Given the description of an element on the screen output the (x, y) to click on. 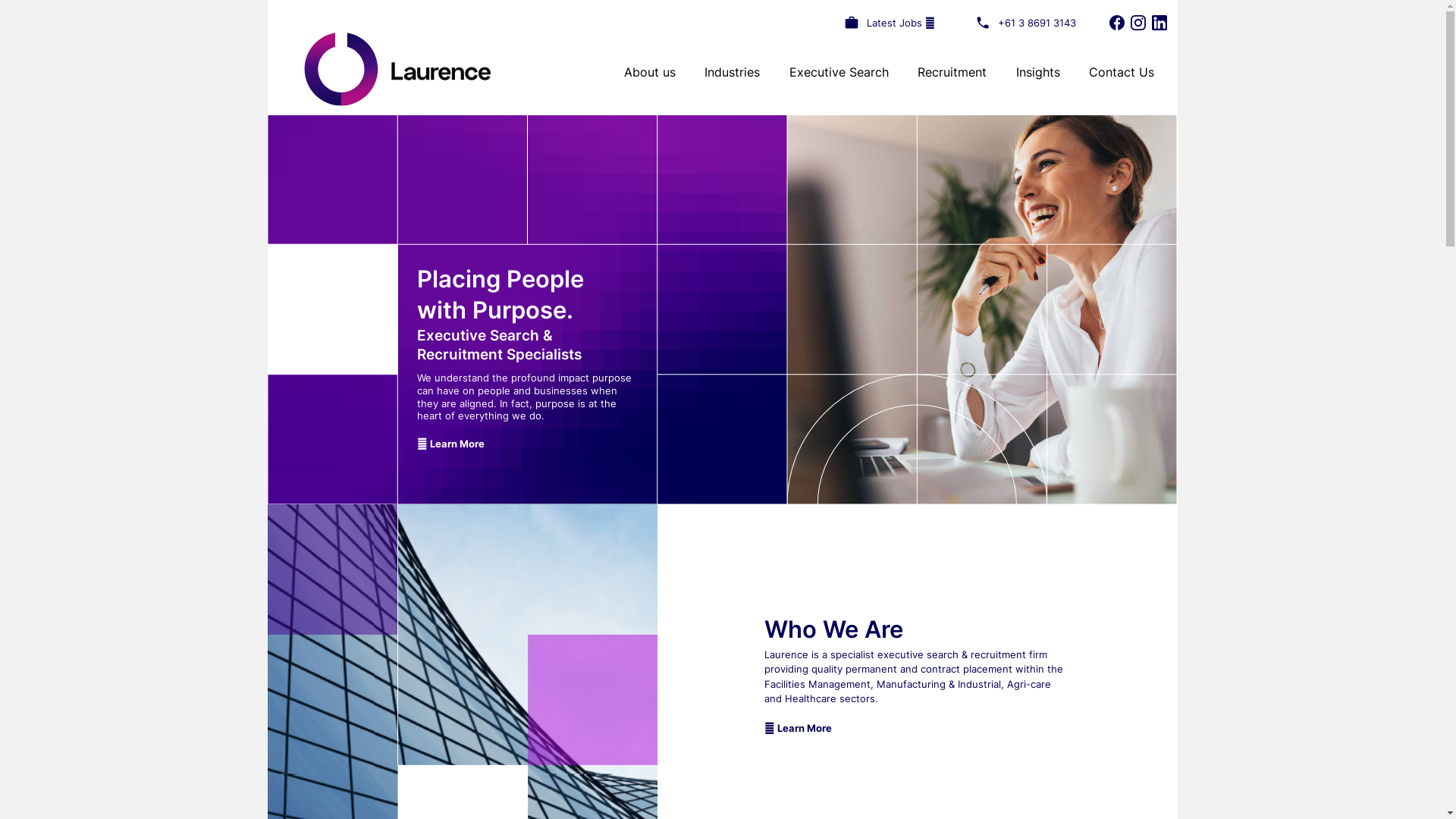
LinkedIn Element type: text (1158, 22)
Laurence Recruitment Element type: text (396, 68)
Facebook Element type: text (1115, 22)
About us Element type: text (648, 71)
Insights Element type: text (1038, 71)
Industries Element type: text (731, 71)
Contact Us Element type: text (1121, 71)
Instagram Element type: text (1137, 22)
Executive Search Element type: text (838, 71)
+61 3 8691 3143 Element type: text (1036, 22)
Recruitment Element type: text (951, 71)
